Given the description of an element on the screen output the (x, y) to click on. 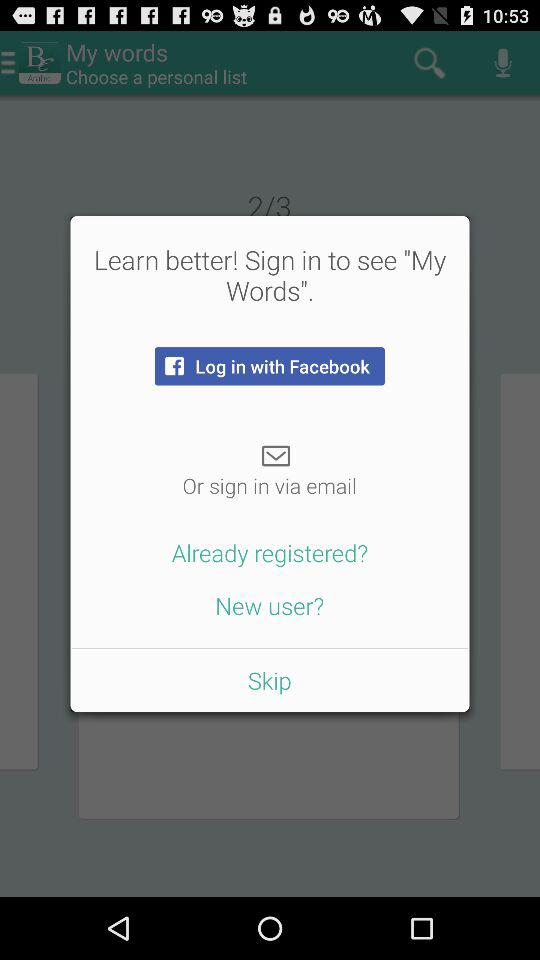
swipe to the log in with icon (269, 366)
